Given the description of an element on the screen output the (x, y) to click on. 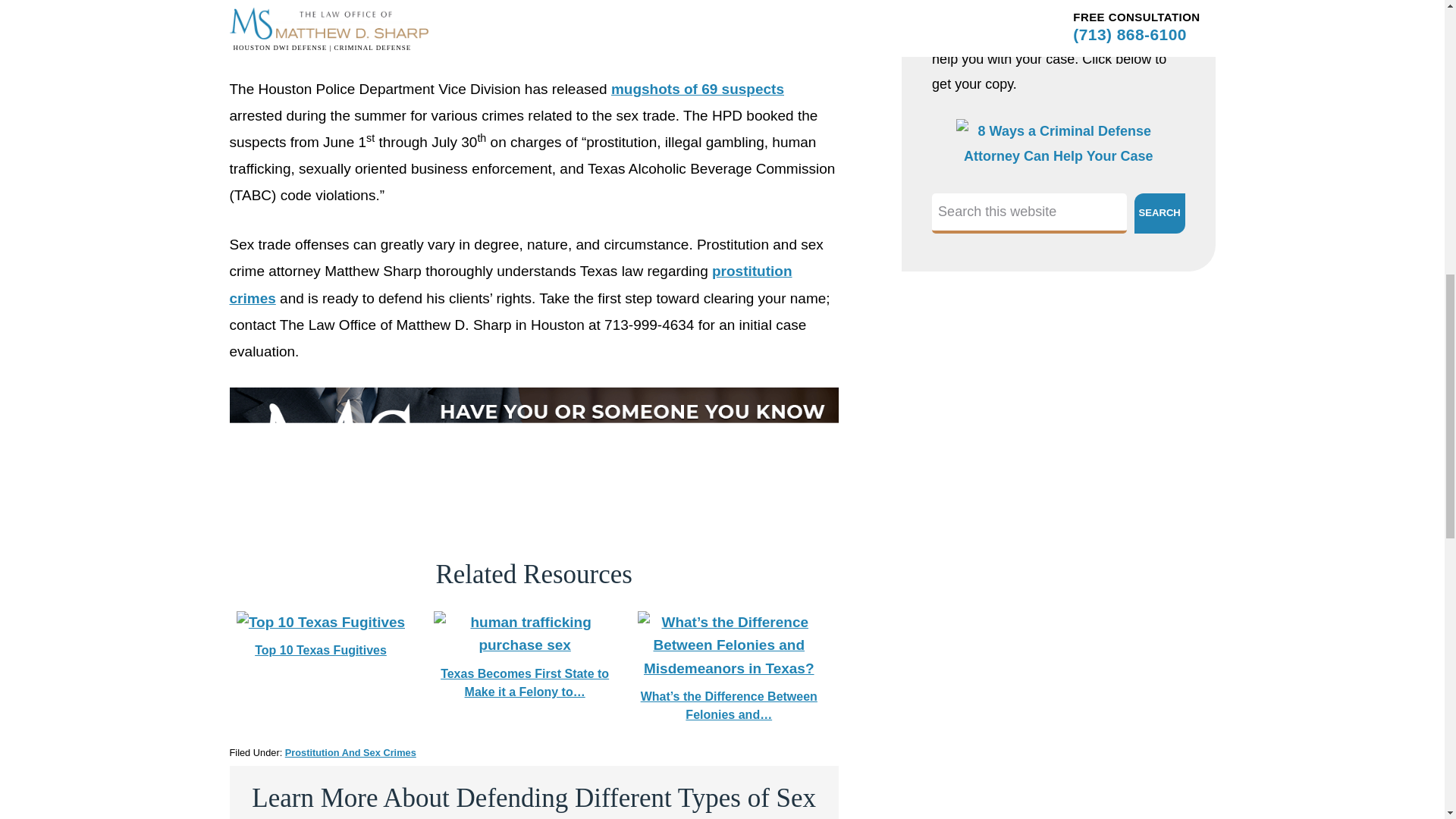
Search (1159, 212)
mugshots of 69 suspects (697, 89)
Search (1159, 212)
8 Ways a Criminal Defense Attorney Can Help Your Case (1058, 155)
Prostitution And Sex Crimes (350, 752)
Top 10 Texas Fugitives (319, 621)
prostitution crimes (510, 283)
Top 10 Texas Fugitives (320, 635)
